Given the description of an element on the screen output the (x, y) to click on. 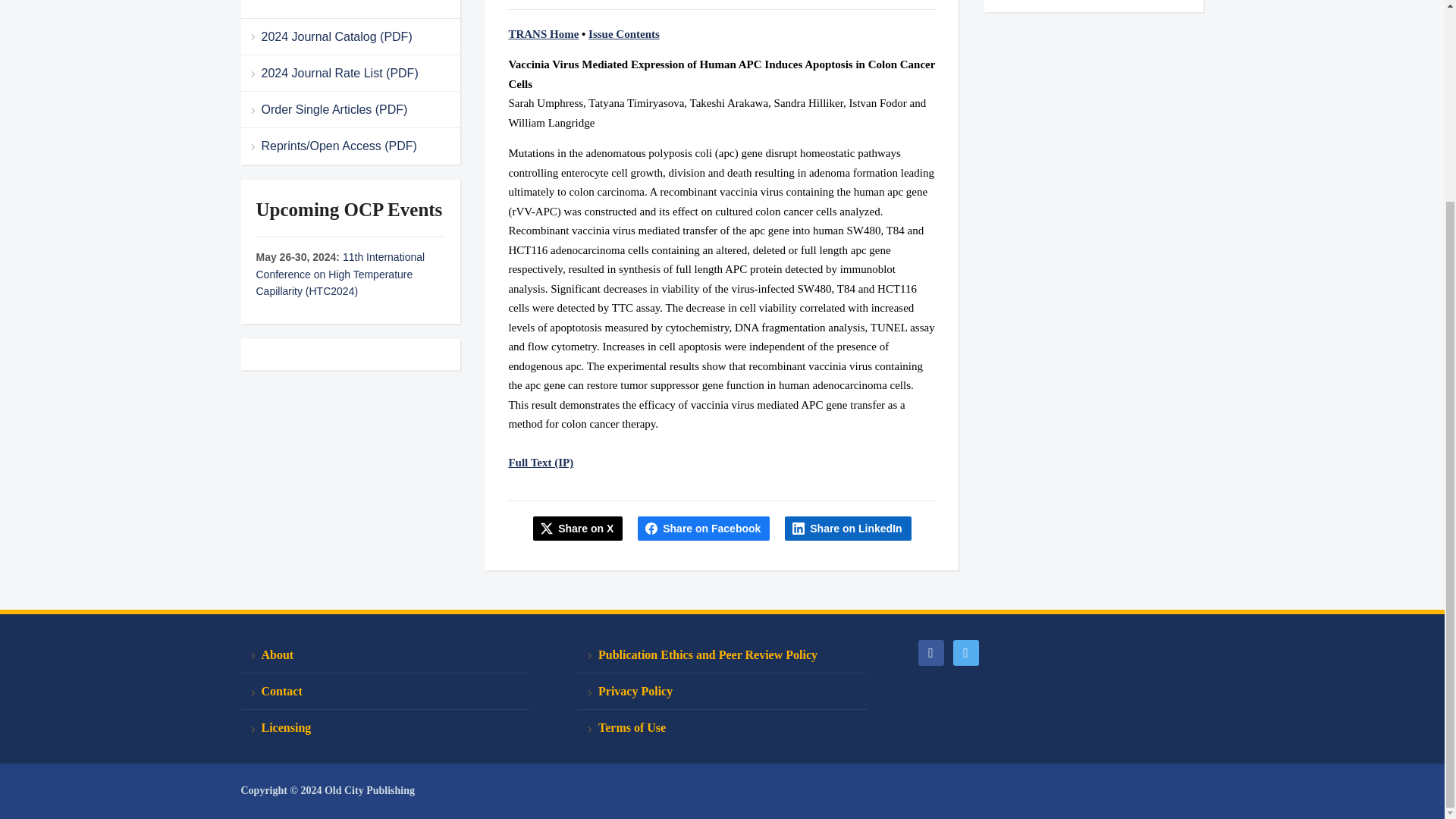
Share on Facebook (703, 528)
TRANS Home (543, 33)
Friend me on Facebook (930, 651)
twitter (965, 651)
Contact (385, 691)
Share this on X (577, 528)
Follow Me (965, 651)
Share on LinkedIn (847, 528)
Privacy Policy (722, 691)
facebook (930, 651)
Licensing (385, 727)
Publication Ethics and Peer Review Policy (722, 655)
Share on X (577, 528)
Terms of Use (722, 727)
Issue Contents (623, 33)
